Given the description of an element on the screen output the (x, y) to click on. 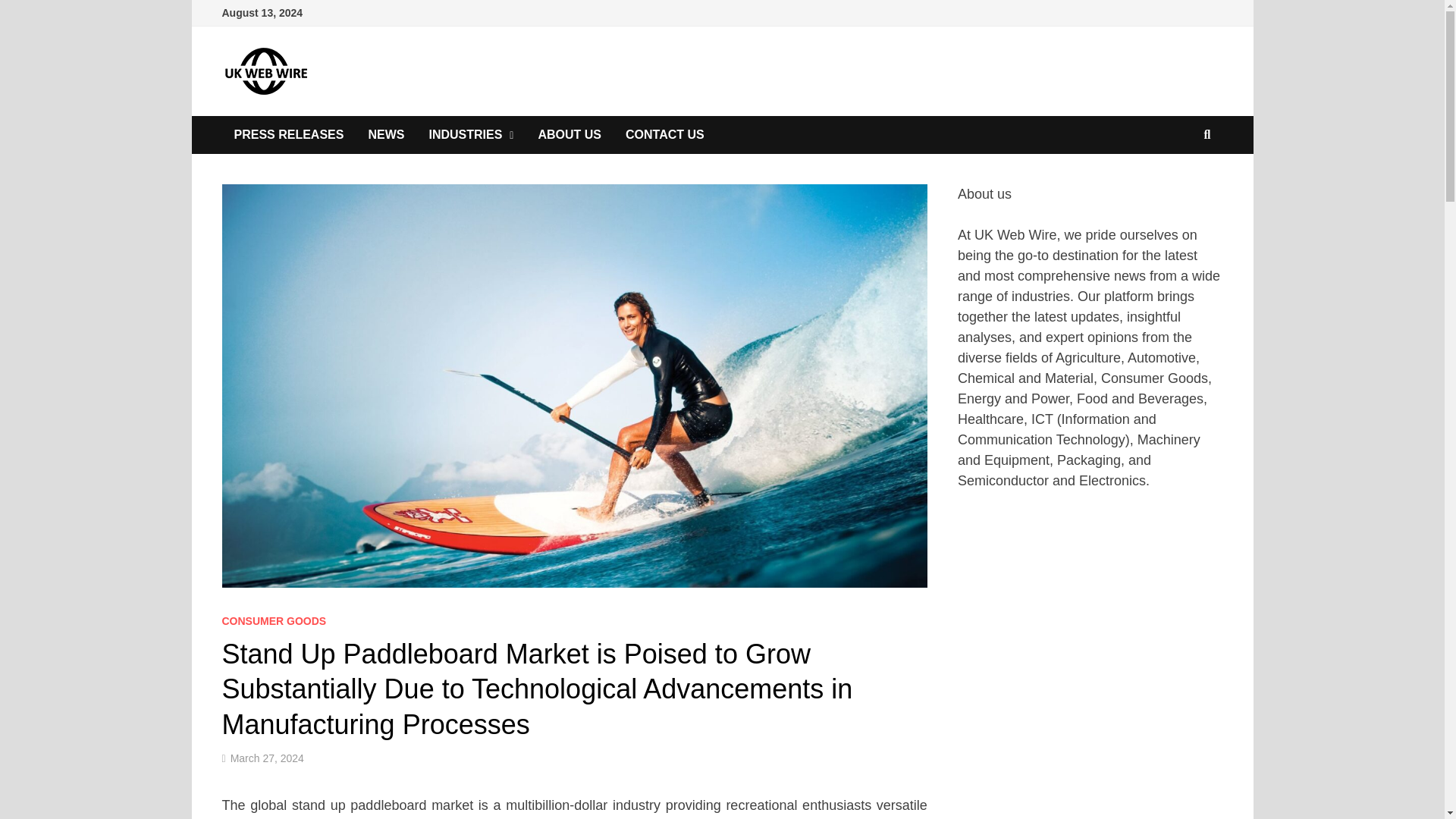
CONSUMER GOODS (273, 621)
PRESS RELEASES (288, 134)
ABOUT US (568, 134)
CONTACT US (664, 134)
INDUSTRIES (470, 134)
NEWS (385, 134)
